Given the description of an element on the screen output the (x, y) to click on. 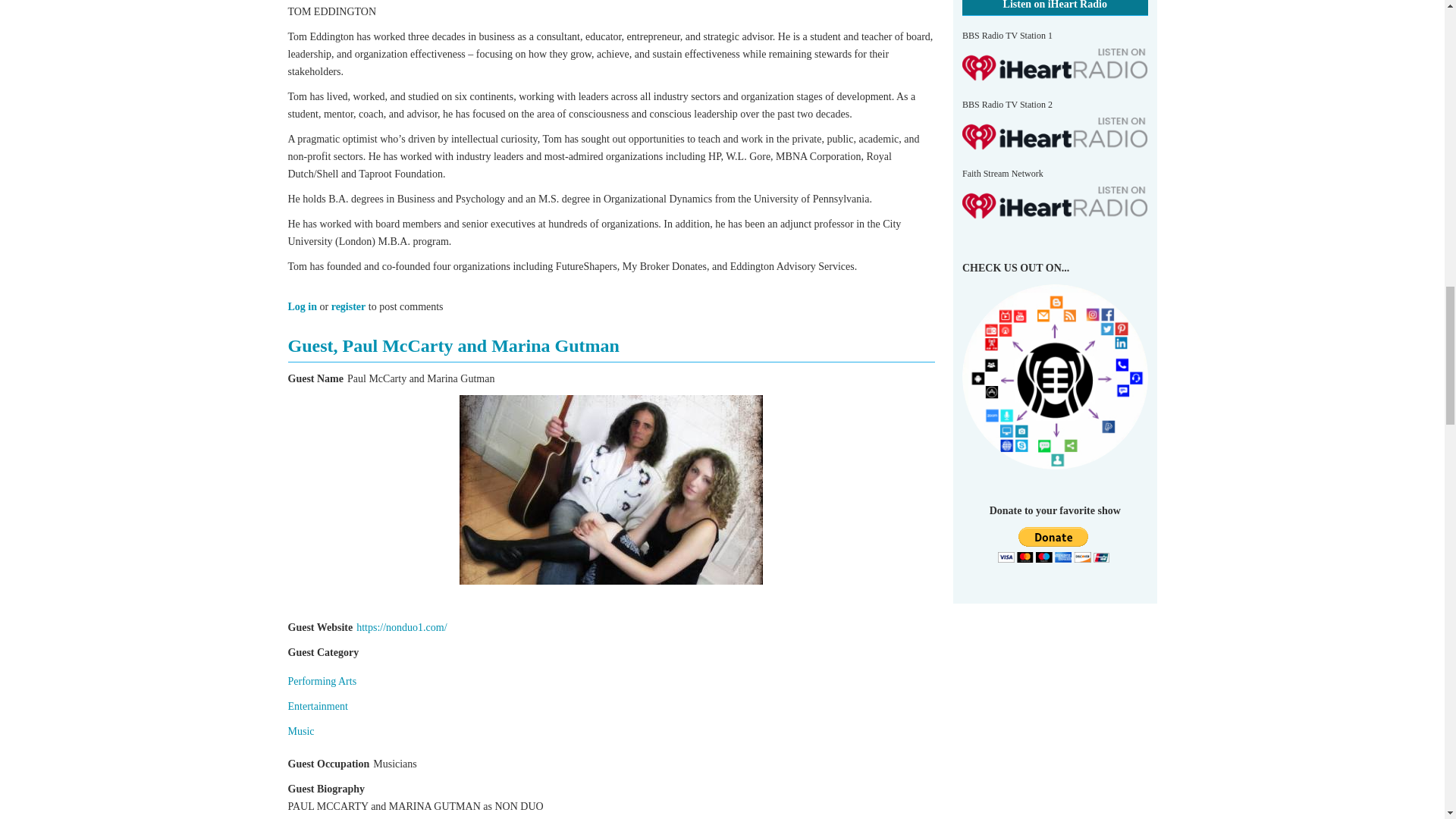
Paul McCarty and Marina Gutman (611, 489)
